Given the description of an element on the screen output the (x, y) to click on. 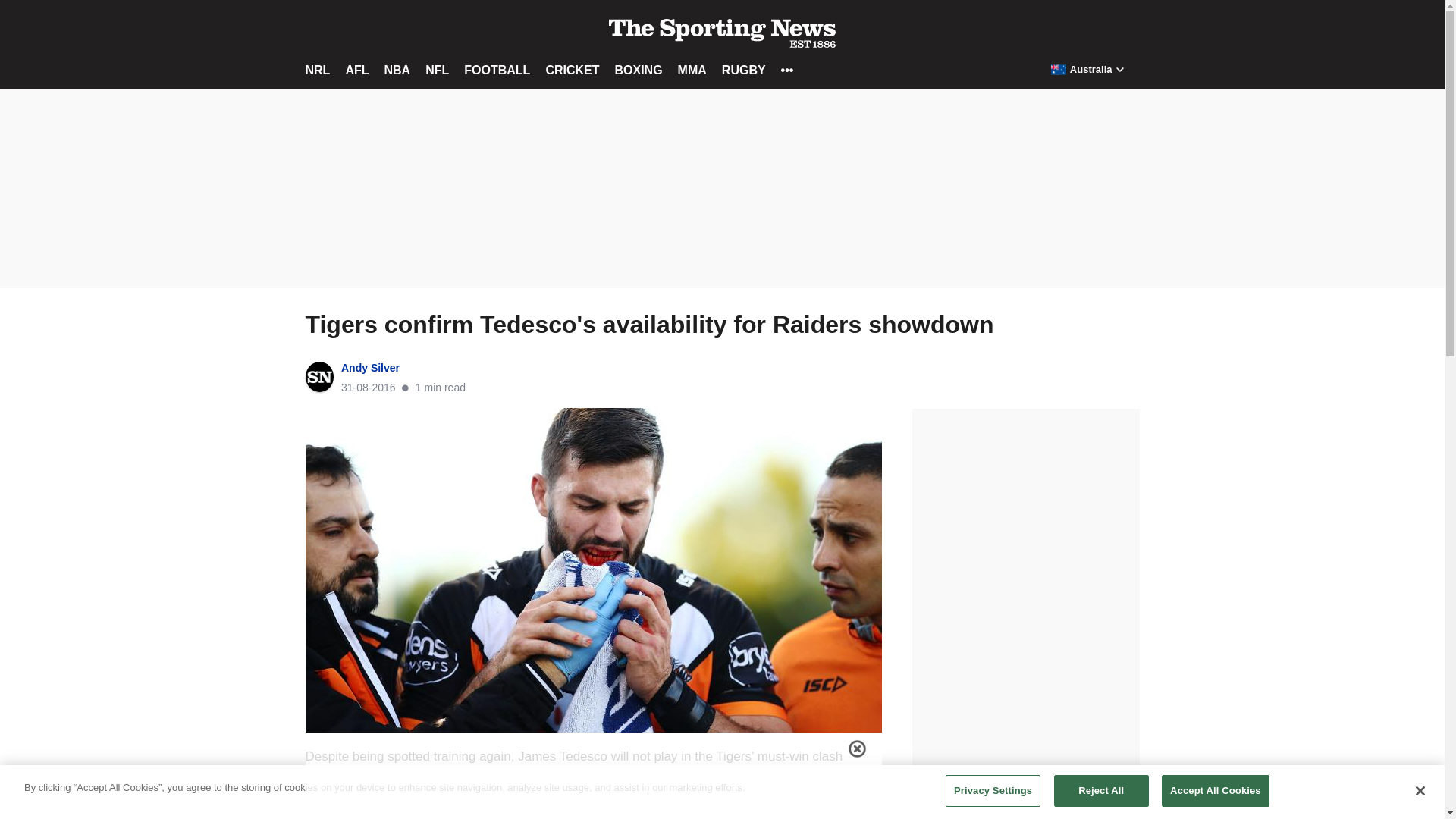
BOXING (638, 70)
3rd party ad content (593, 785)
FOOTBALL (496, 70)
CRICKET (571, 70)
3rd party ad content (721, 192)
RUGBY (743, 70)
3rd party ad content (1024, 503)
